Given the description of an element on the screen output the (x, y) to click on. 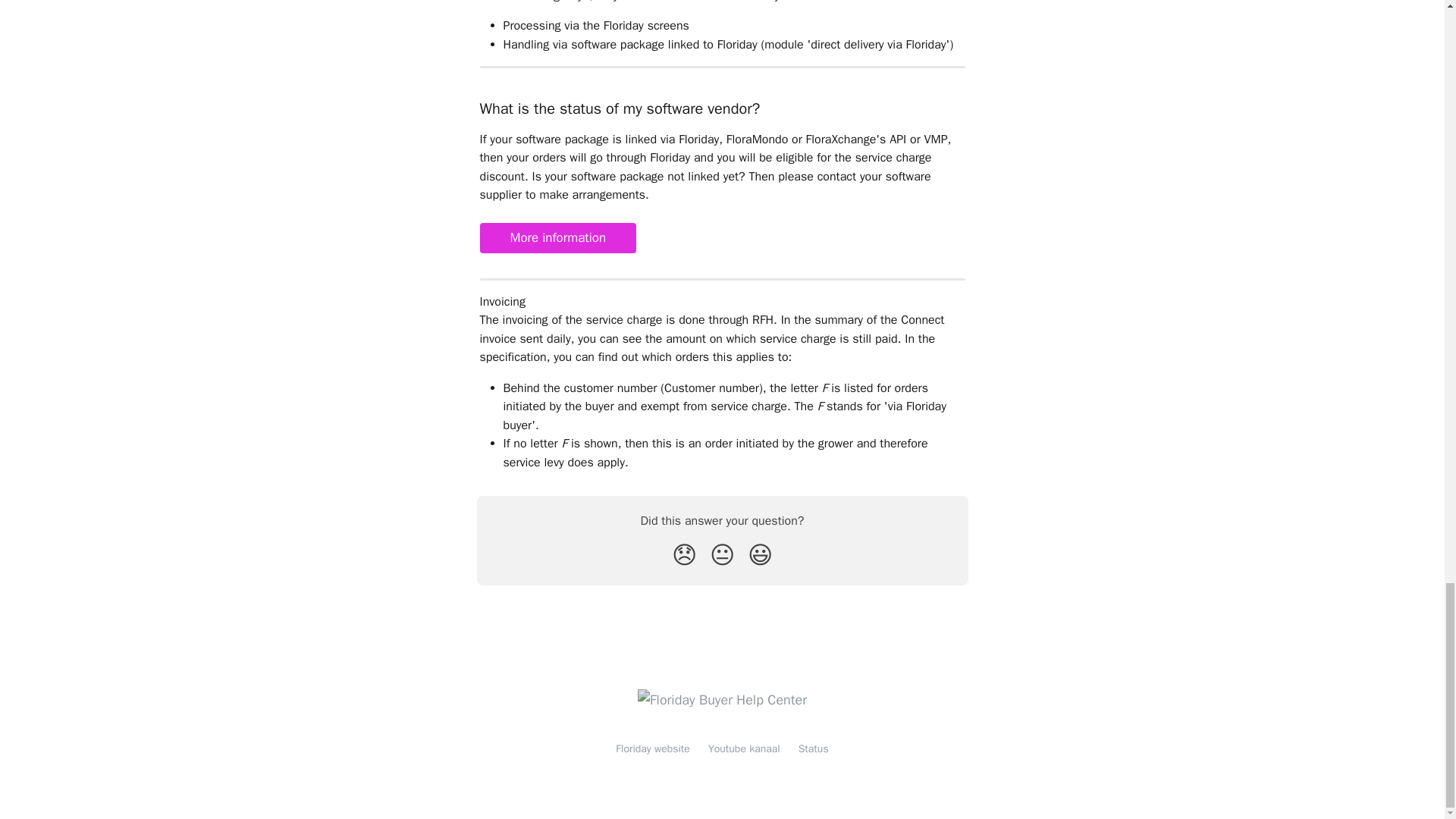
Floriday website (652, 748)
Status (812, 748)
Youtube kanaal (743, 748)
More information (557, 237)
